Given the description of an element on the screen output the (x, y) to click on. 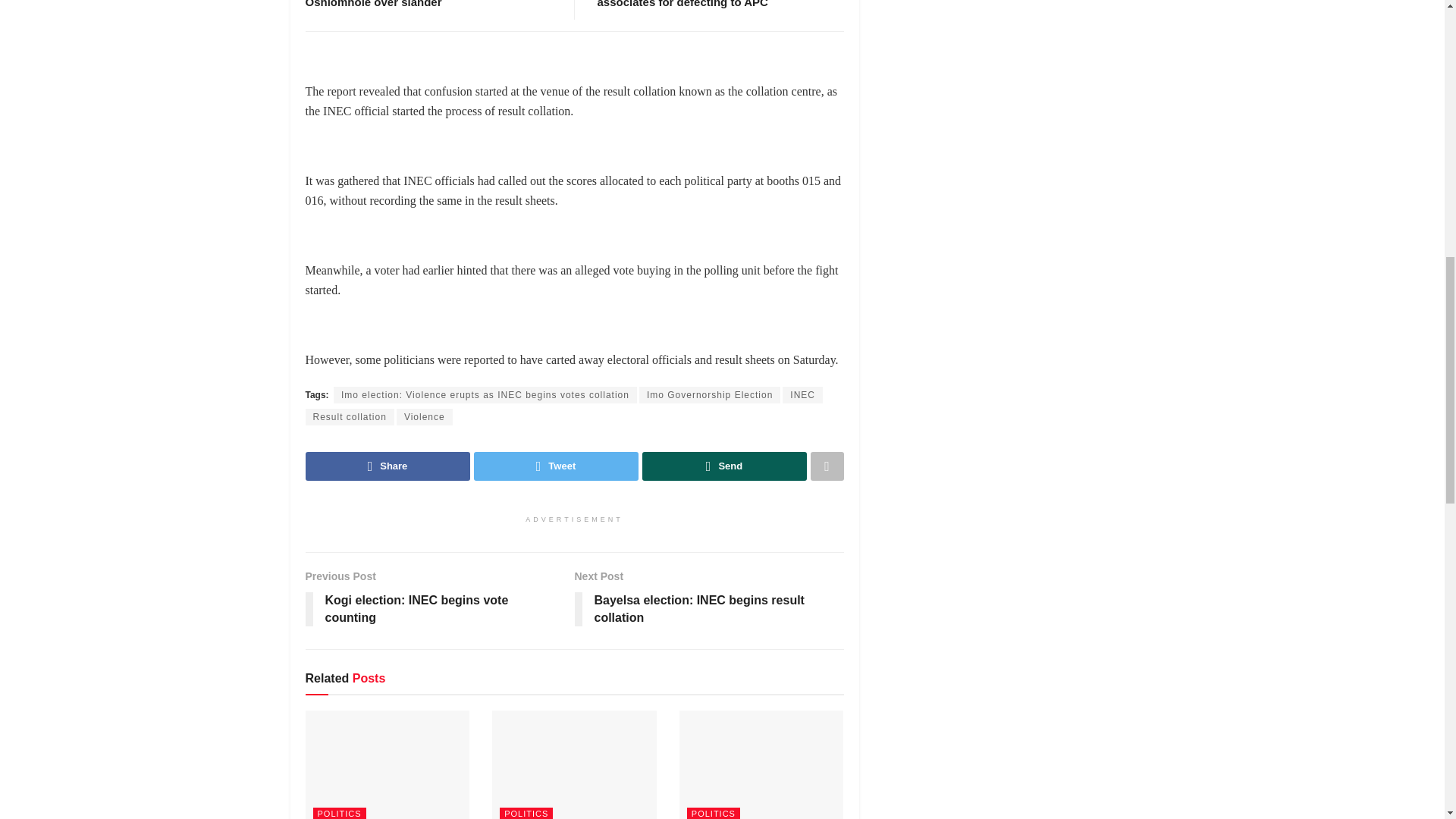
Tweet (555, 466)
Result collation (348, 416)
Violence (424, 416)
Share (386, 466)
Send (724, 466)
INEC (802, 394)
Imo Governorship Election (709, 394)
Imo election: Violence erupts as INEC begins votes collation (485, 394)
